Given the description of an element on the screen output the (x, y) to click on. 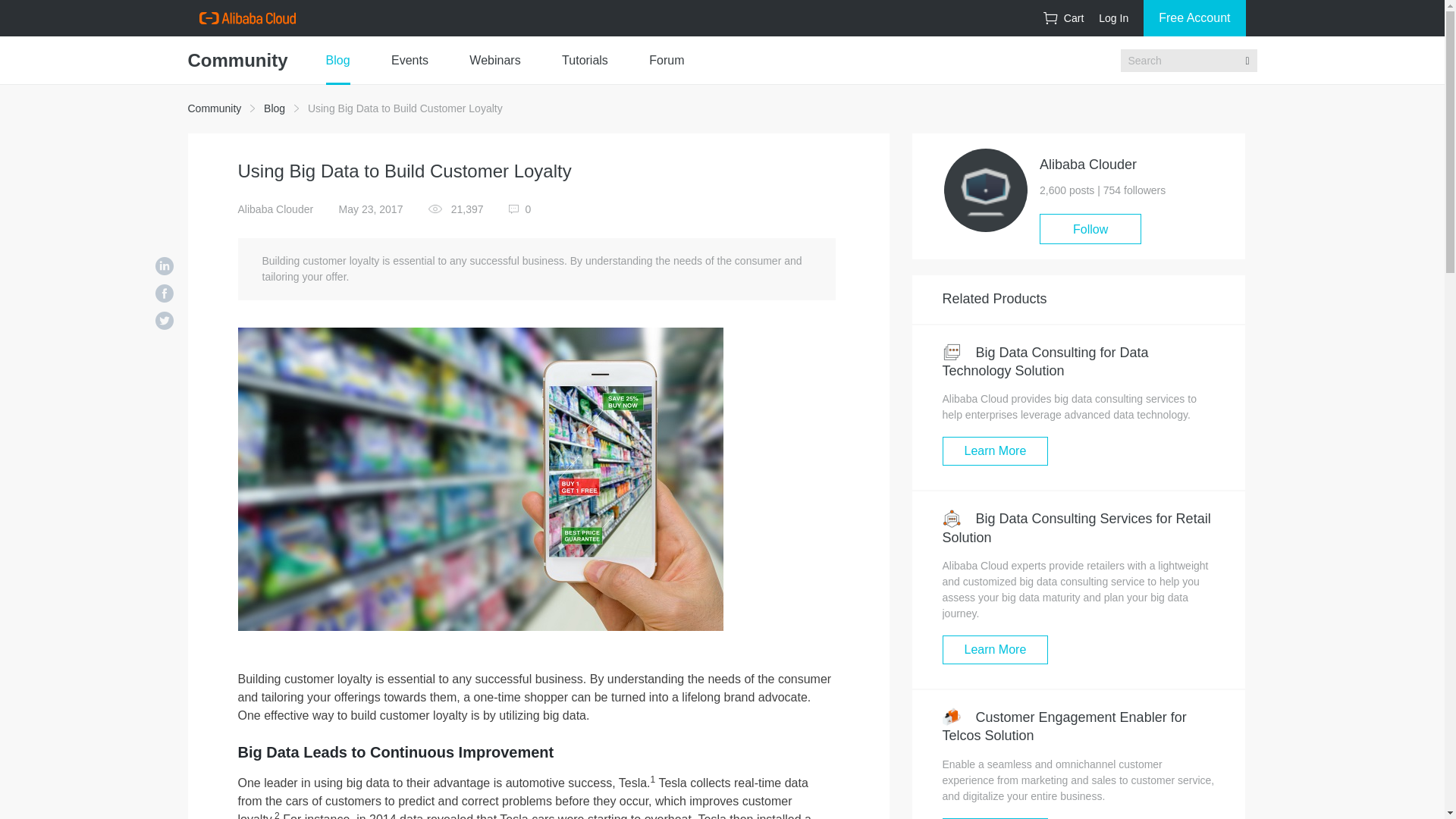
Free Account (1193, 18)
Community (214, 108)
0 (519, 209)
Webinars (493, 60)
AliCloud (246, 18)
Tutorials (585, 60)
Alibaba Clouder (276, 209)
  Cart (1062, 17)
Blog (274, 108)
Log In (1112, 17)
